Given the description of an element on the screen output the (x, y) to click on. 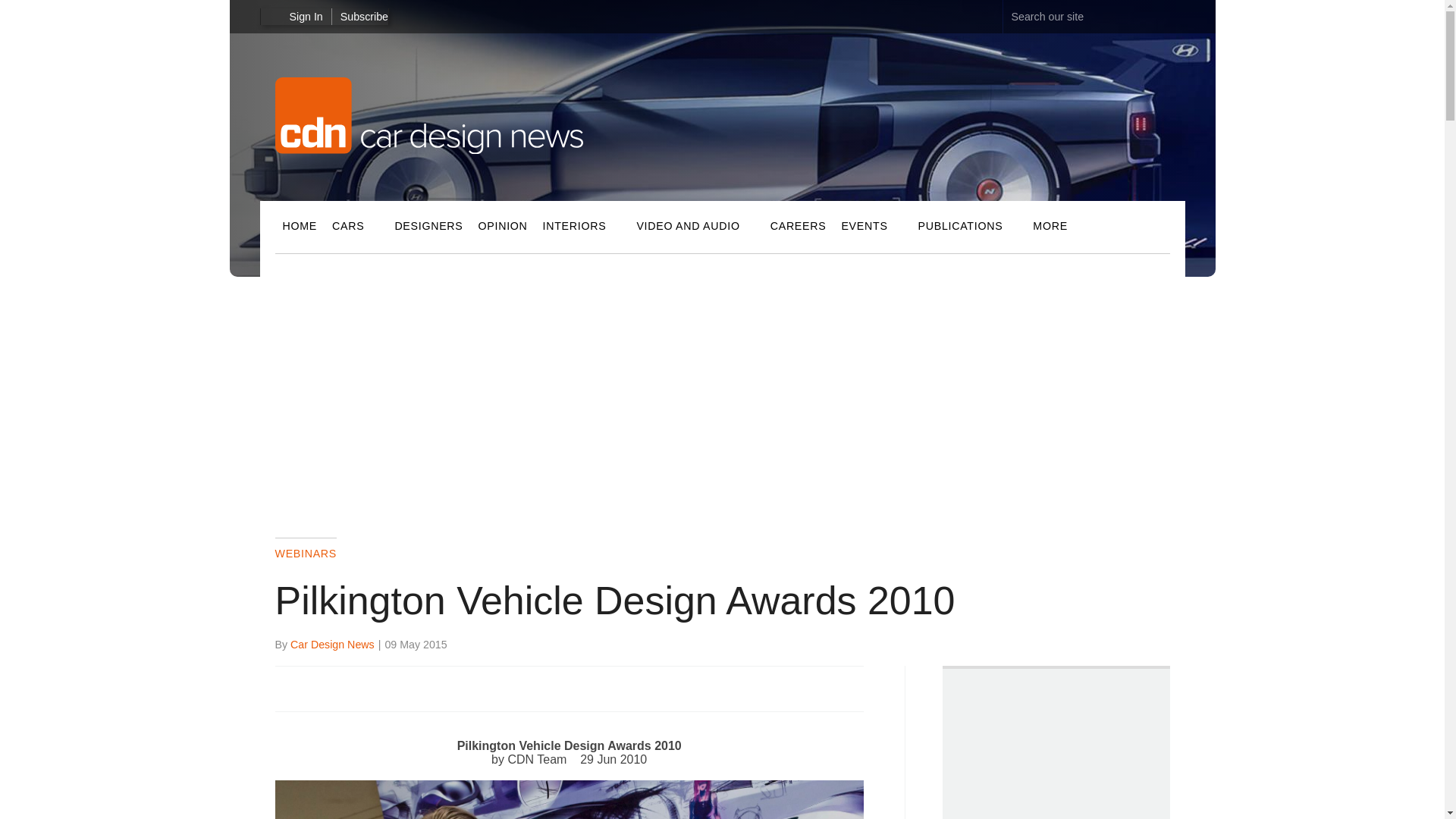
Share this on Twitter (320, 687)
SEARCH (1174, 16)
CDN- Car Design News (428, 149)
Share this on Facebook (288, 687)
Subscribe (364, 16)
Email this article (386, 687)
Share this on Linked in (352, 687)
Sign In (291, 16)
CDN- Car Design News (428, 114)
